Given the description of an element on the screen output the (x, y) to click on. 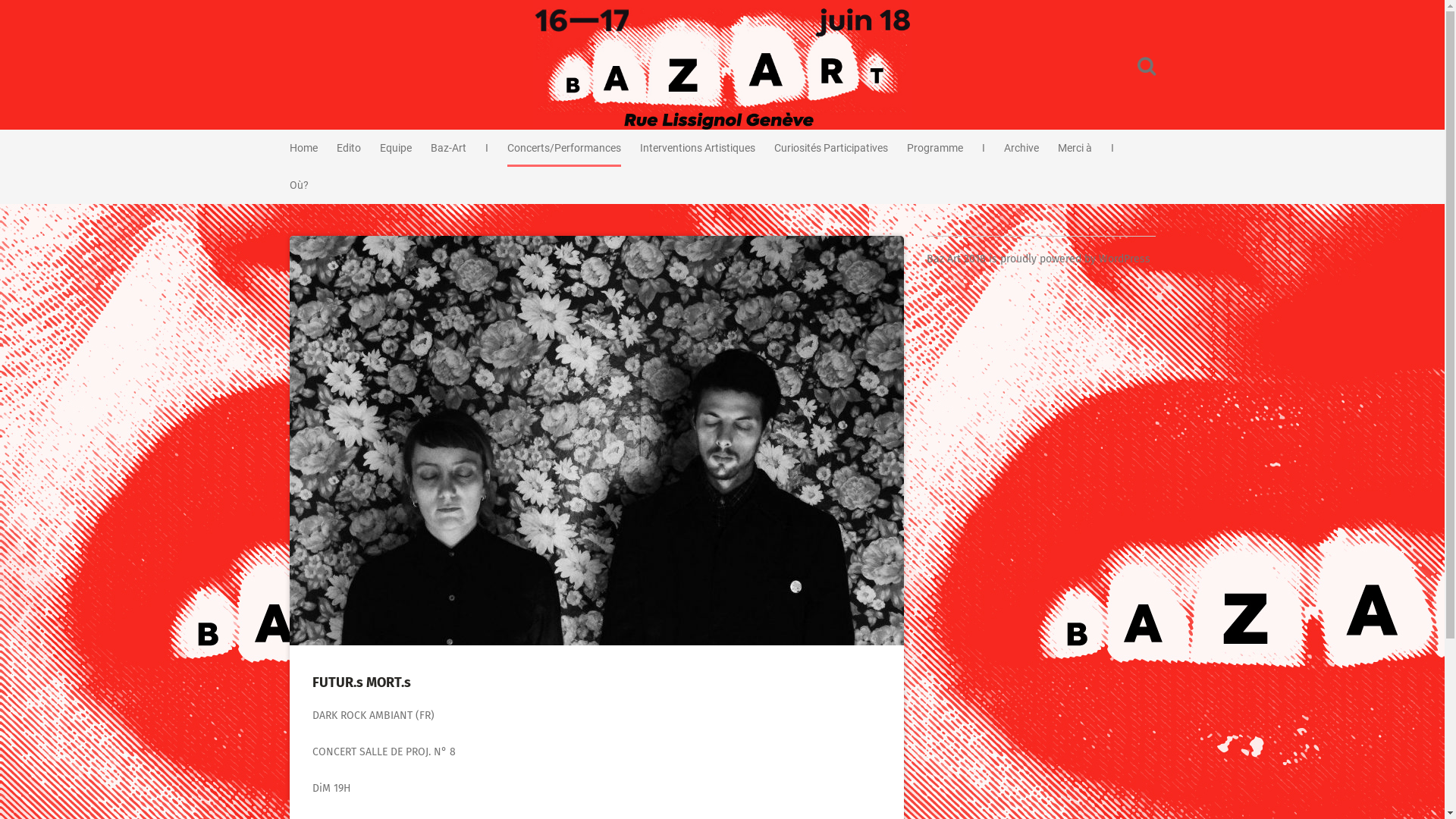
Programme Element type: text (934, 147)
Archive Element type: text (1021, 147)
I Element type: text (982, 147)
Concerts/Performances Element type: text (563, 147)
Equipe Element type: text (395, 147)
WordPress Element type: text (1123, 258)
Edito Element type: text (348, 147)
I Element type: text (1111, 147)
Baz-Art Element type: text (448, 147)
Home Element type: text (303, 147)
Interventions Artistiques Element type: text (697, 147)
I Element type: text (486, 147)
